Given the description of an element on the screen output the (x, y) to click on. 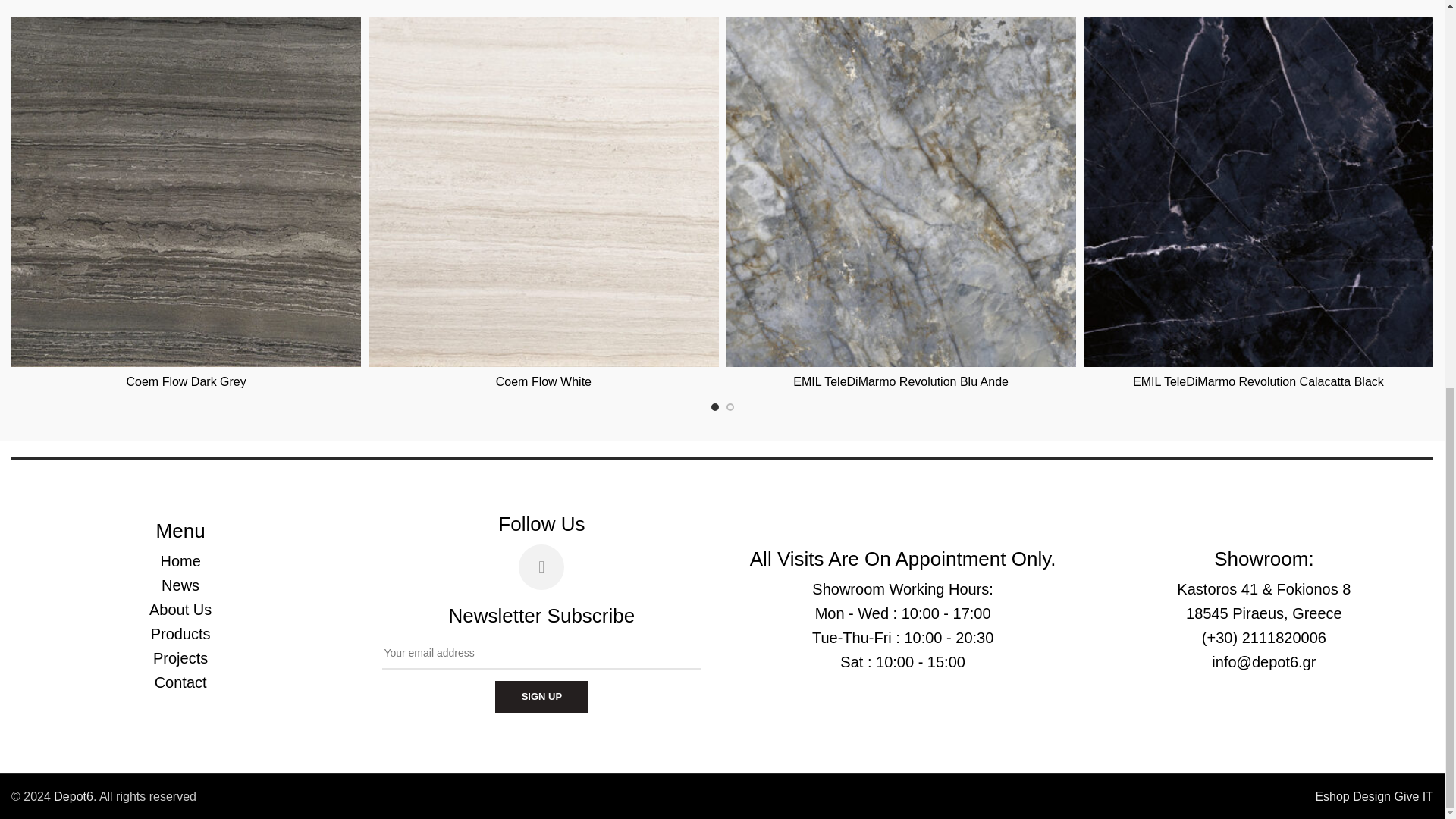
Sign up (541, 696)
